Given the description of an element on the screen output the (x, y) to click on. 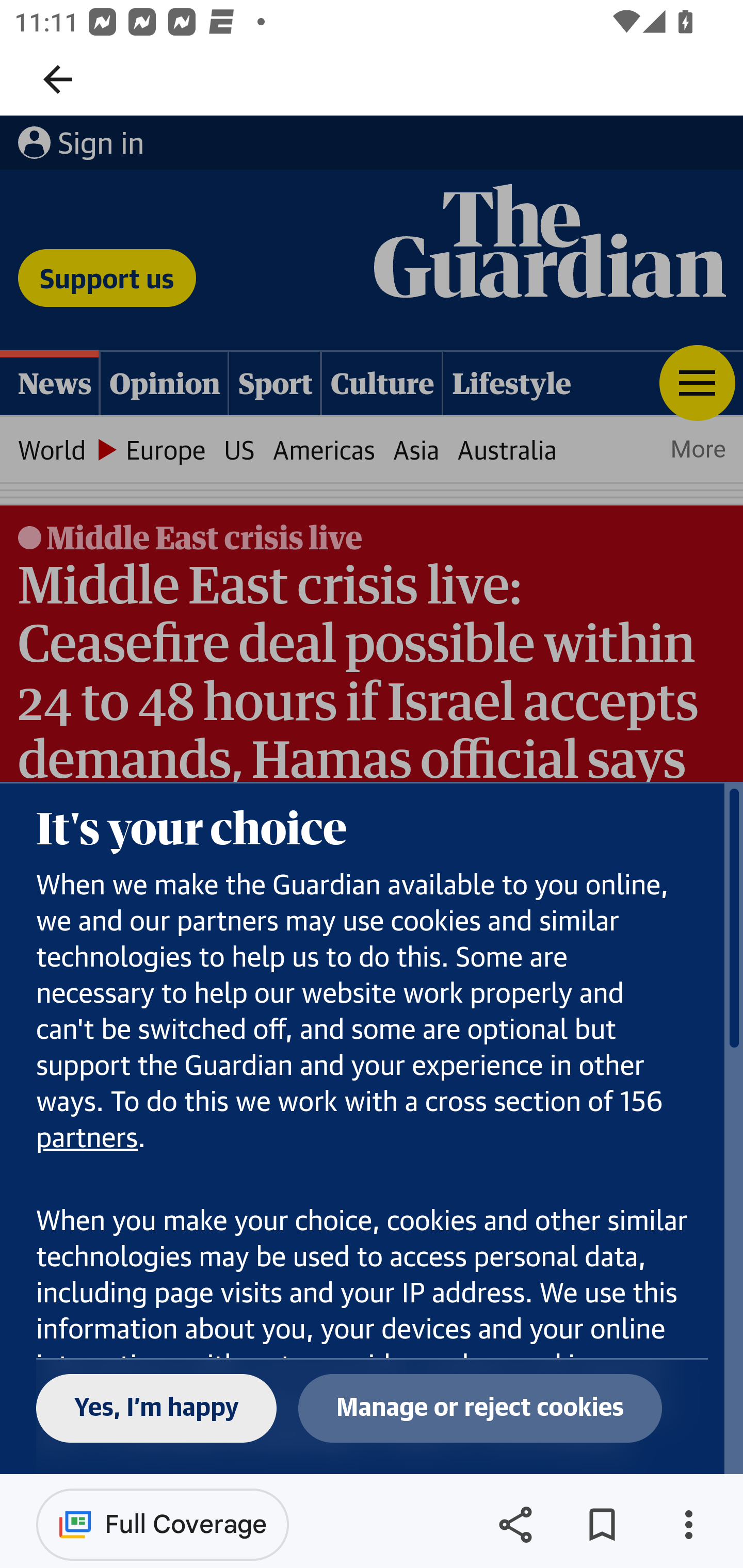
Navigate up (57, 79)
Yohannes Lowe (132, 1031)
partners (87, 1139)
Yes, I’m happy (156, 1408)
Manage or reject cookies (479, 1408)
Share (514, 1524)
Save for later (601, 1524)
More options (688, 1524)
Full Coverage (162, 1524)
